Given the description of an element on the screen output the (x, y) to click on. 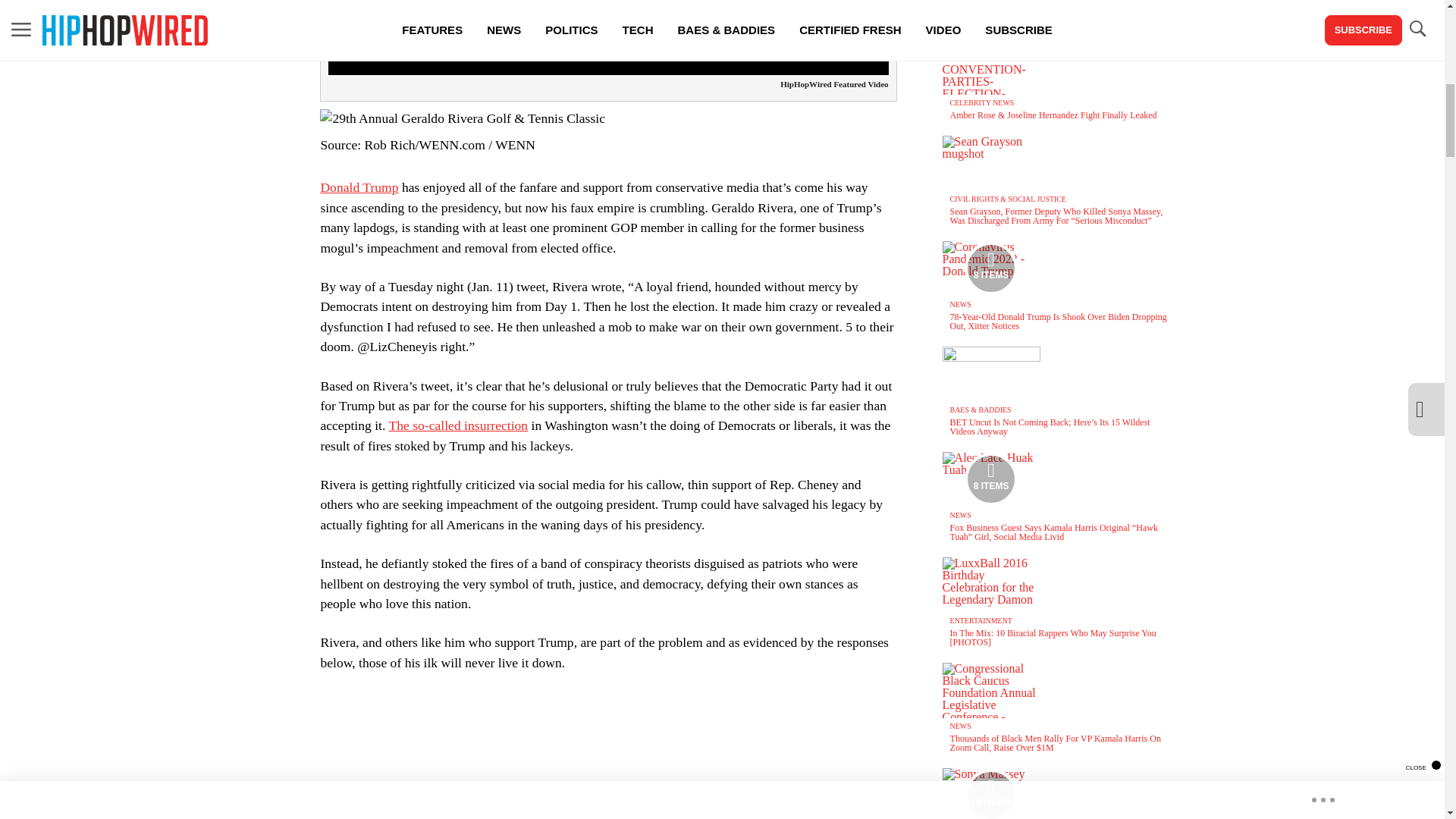
Donald Trump (358, 186)
Media Playlist (990, 267)
Media Playlist (990, 794)
Media Playlist (990, 479)
The so-called insurrection (457, 425)
